Given the description of an element on the screen output the (x, y) to click on. 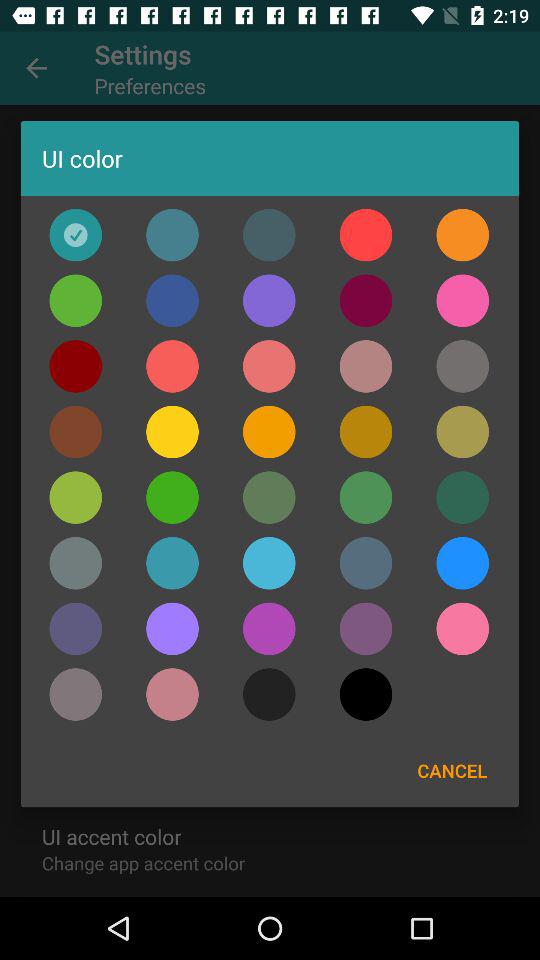
choose color option (462, 234)
